Given the description of an element on the screen output the (x, y) to click on. 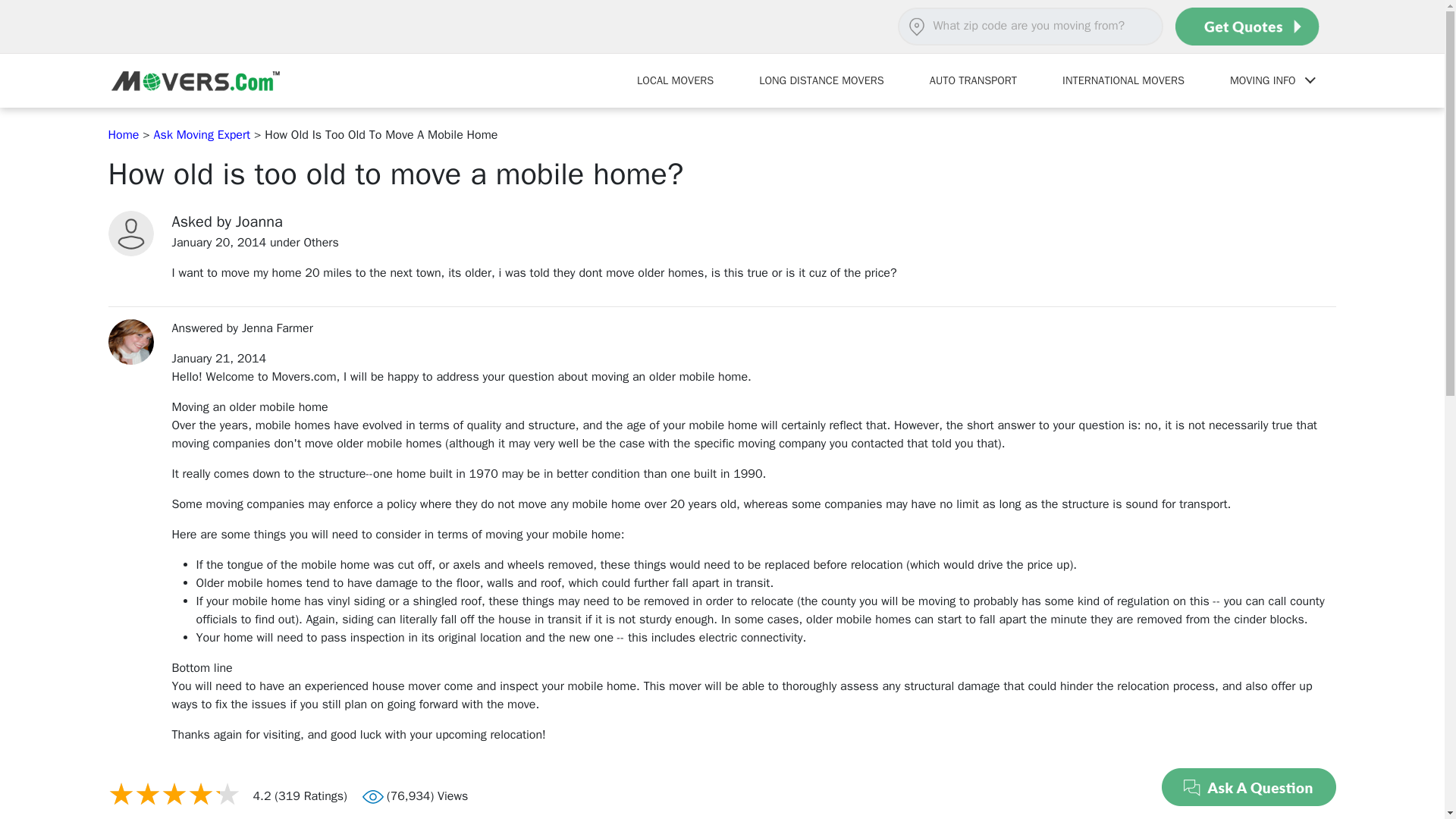
Ask Moving Expert (202, 134)
AUTO TRANSPORT (973, 80)
LONG DISTANCE MOVERS (821, 80)
Home (123, 134)
4.2 (174, 793)
MOVING INFO (1271, 80)
LOCAL MOVERS (675, 80)
INTERNATIONAL MOVERS (1123, 80)
